Given the description of an element on the screen output the (x, y) to click on. 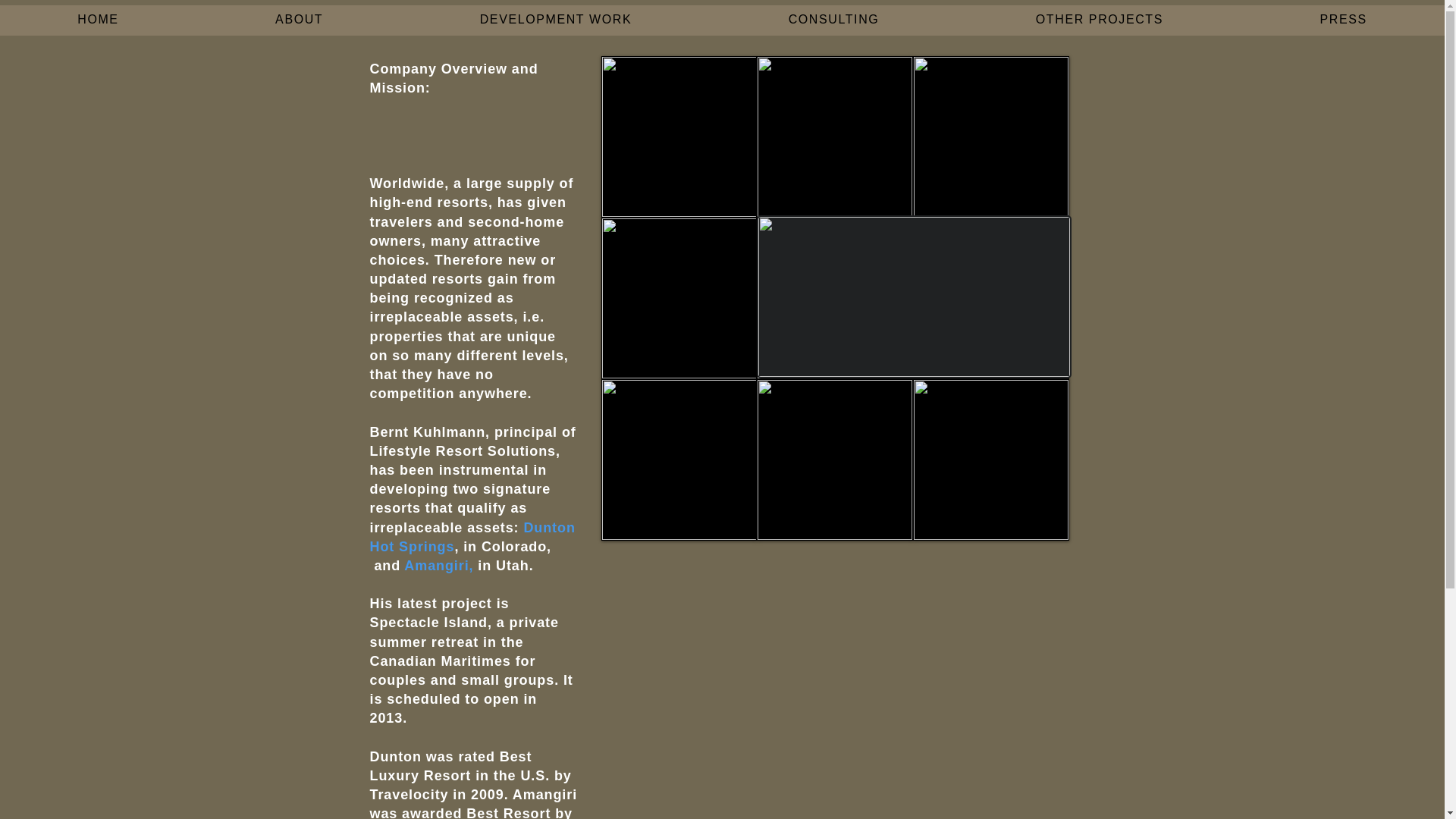
Amangiri (436, 565)
HOME (98, 20)
Dunton Hot Springs (472, 537)
ABOUT (299, 20)
